Given the description of an element on the screen output the (x, y) to click on. 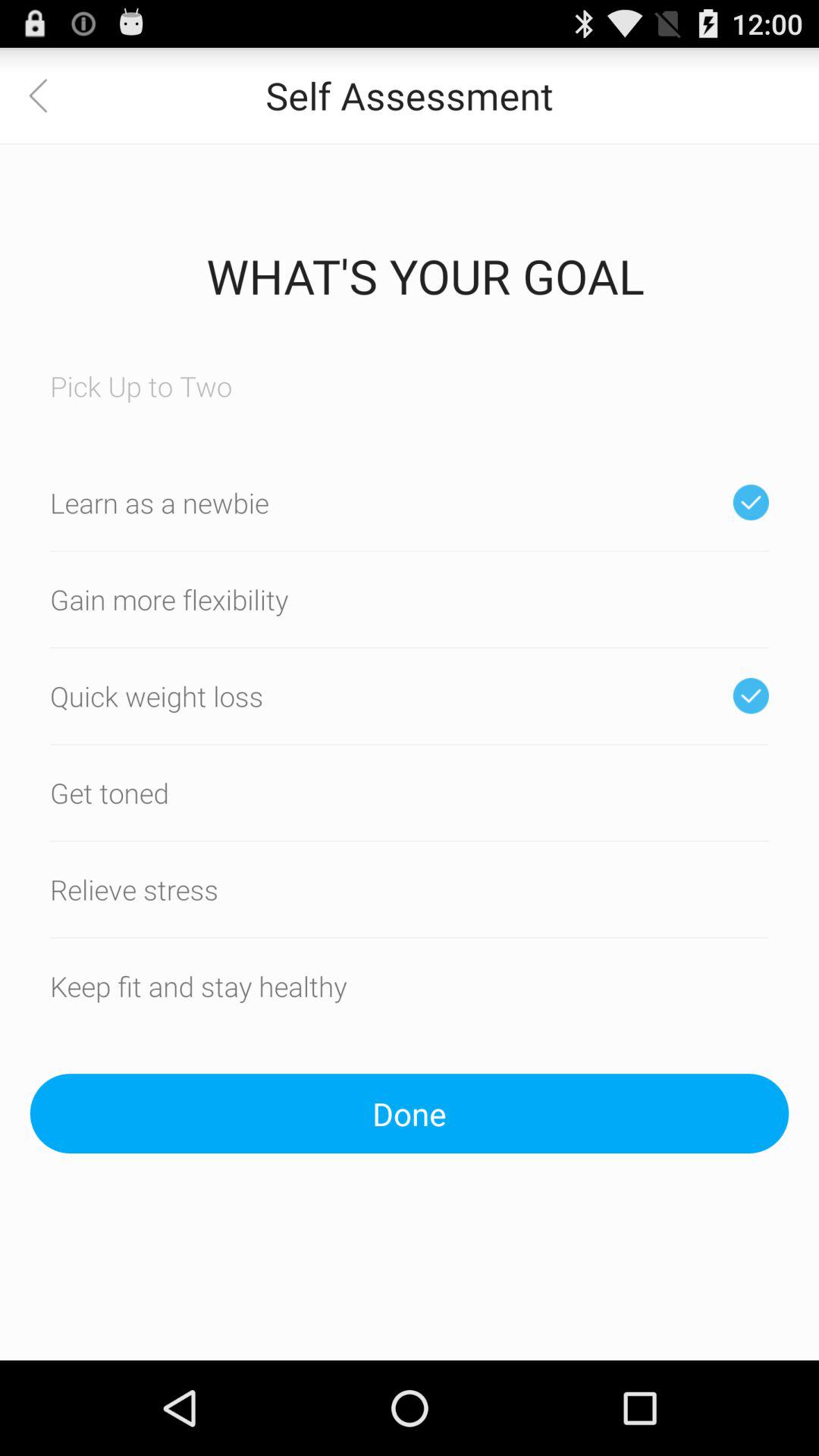
tap item below keep fit and (409, 1113)
